Given the description of an element on the screen output the (x, y) to click on. 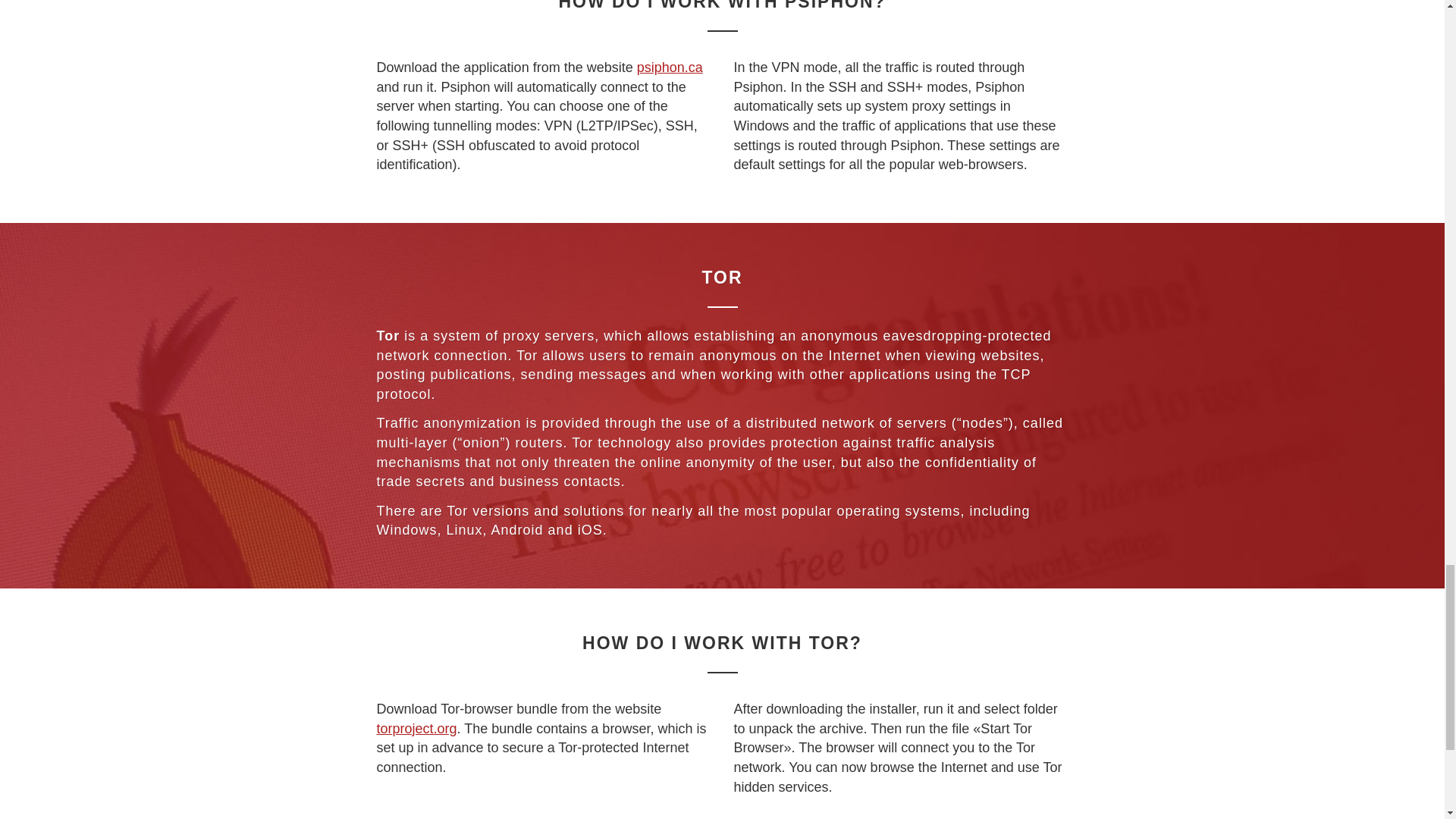
torproject.org (416, 727)
psiphon.ca (670, 67)
